Given the description of an element on the screen output the (x, y) to click on. 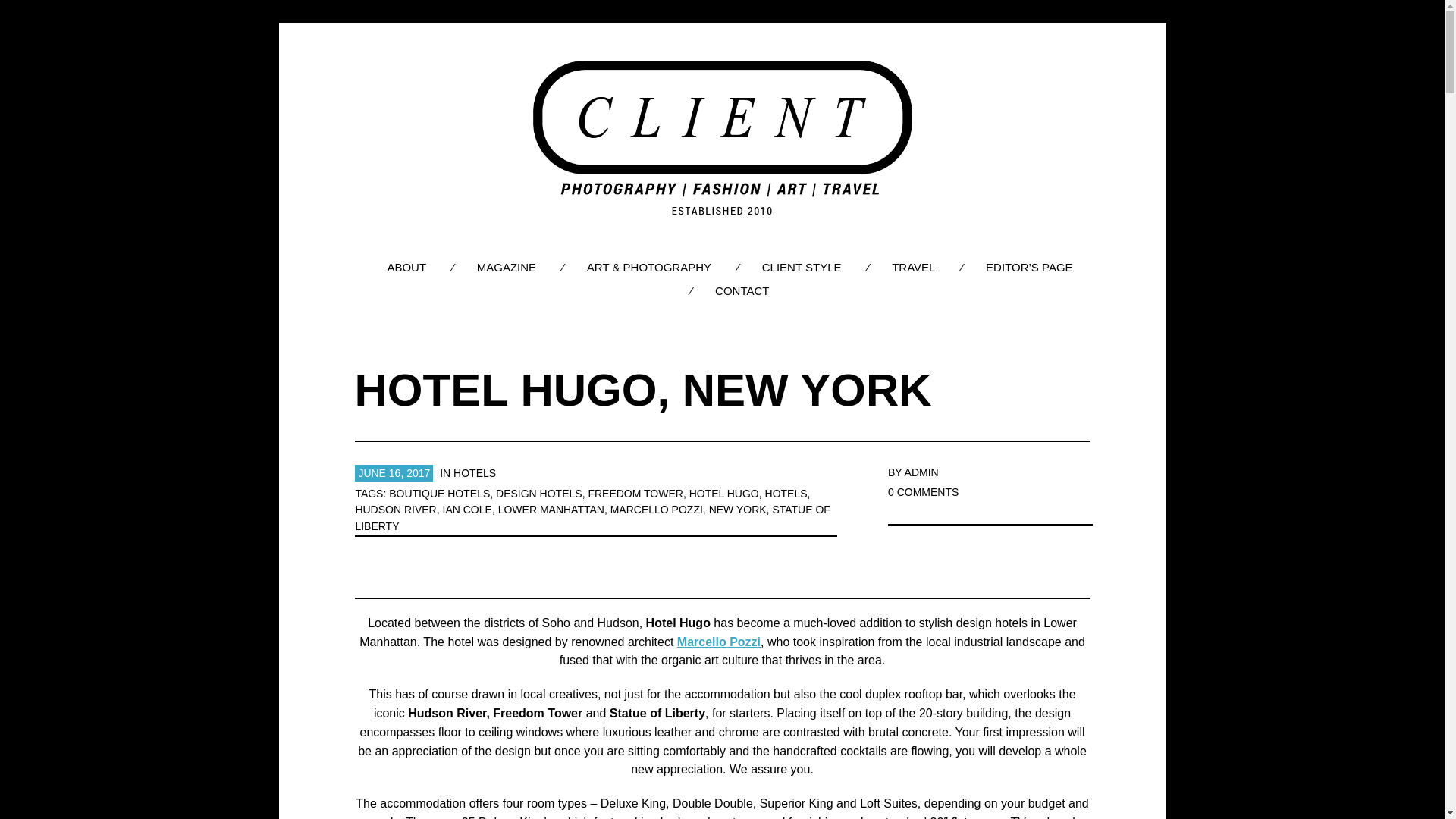
CONTACT (741, 290)
NEW YORK (738, 509)
STATUE OF LIBERTY (592, 517)
IAN COLE (467, 509)
TRAVEL (913, 267)
FREEDOM TOWER (635, 493)
Marcello Pozzi (718, 641)
LOWER MANHATTAN (550, 509)
HUDSON RIVER (395, 509)
Home (721, 138)
